Given the description of an element on the screen output the (x, y) to click on. 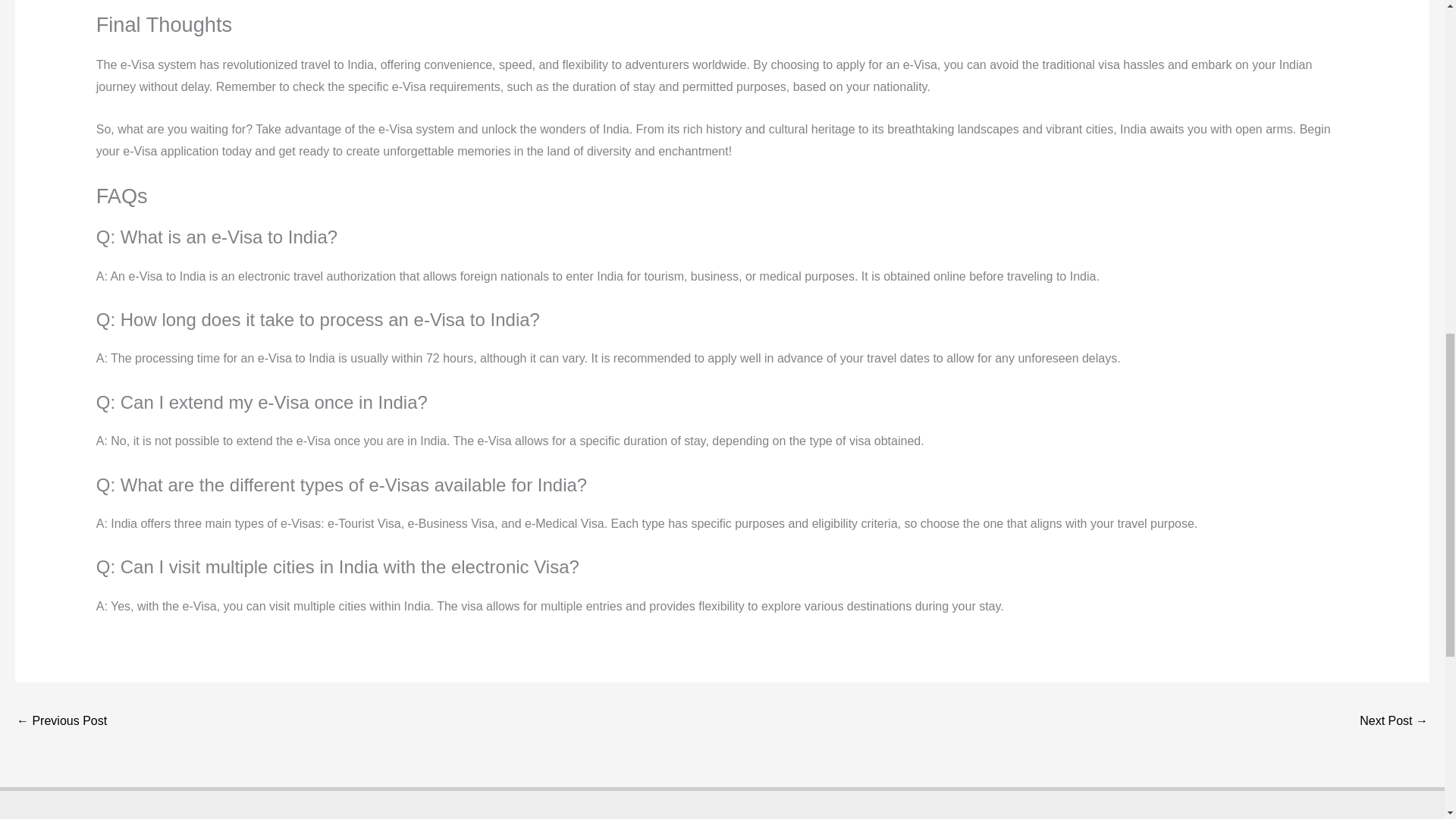
Is e-Visa Still Available for India? (61, 722)
What is Required for e-Visa in India? (1393, 722)
